Given the description of an element on the screen output the (x, y) to click on. 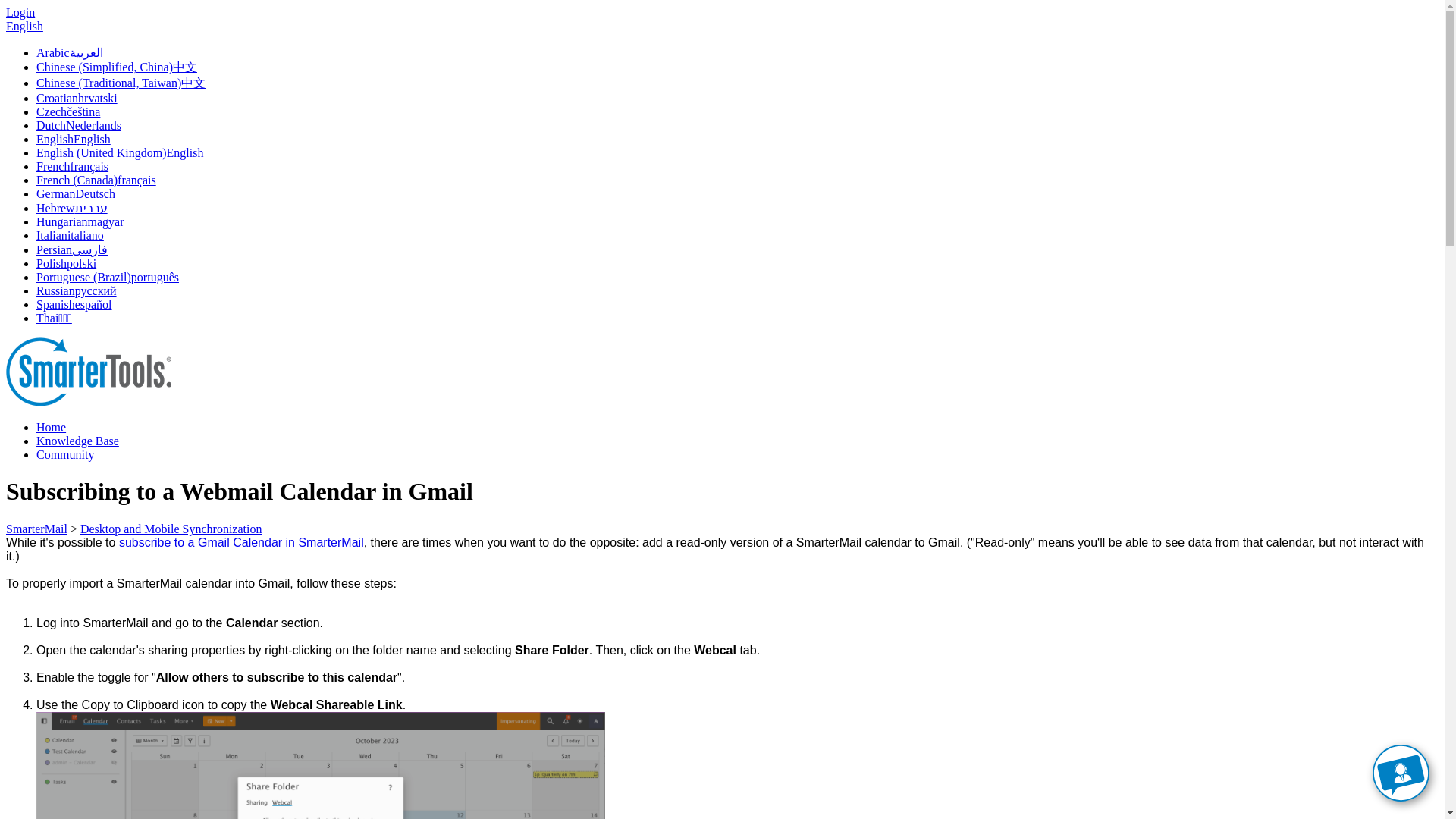
SmarterTools (88, 400)
Send us a message! (1401, 797)
subscribe to a Gmail Calendar in SmarterMail (241, 542)
SmarterMail (35, 528)
Desktop and Mobile Synchronization (171, 528)
English (24, 25)
Login (19, 11)
